Given the description of an element on the screen output the (x, y) to click on. 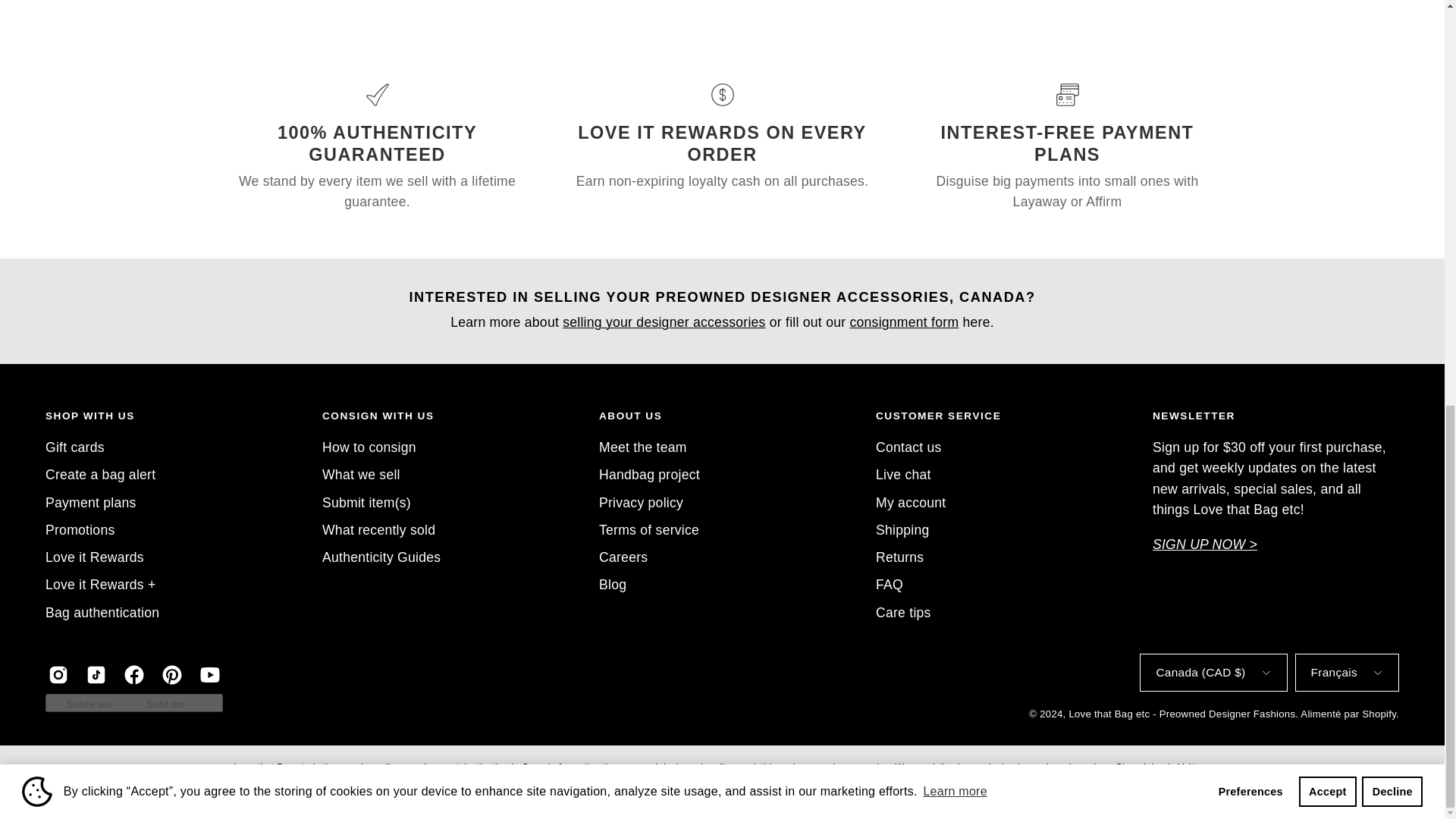
Decline (1391, 2)
Accept (1327, 2)
Preferences (1250, 2)
